Given the description of an element on the screen output the (x, y) to click on. 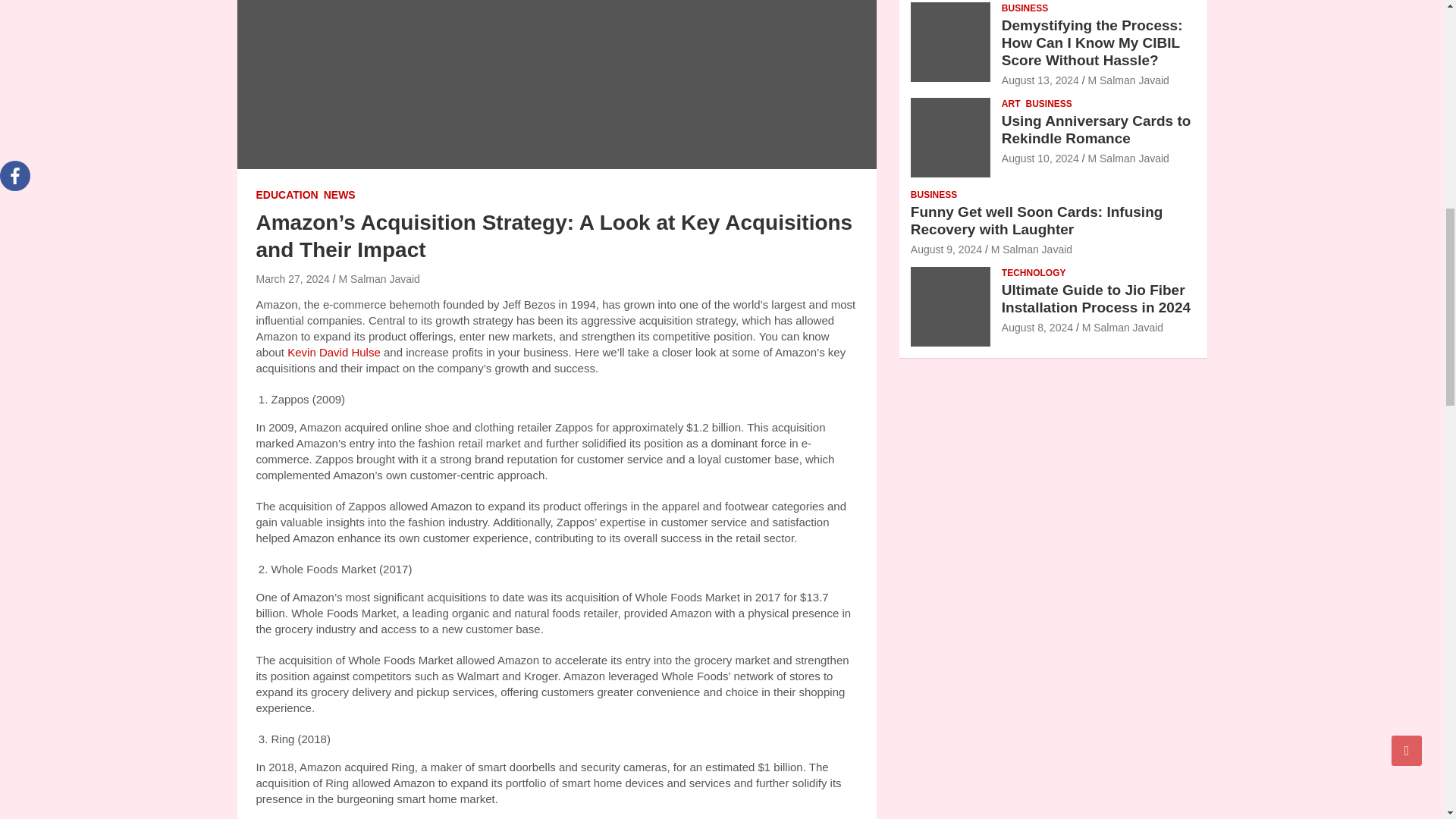
March 27, 2024 (293, 278)
Ultimate Guide to Jio Fiber Installation Process in 2024 (1037, 327)
NEWS (339, 195)
Funny Get well Soon Cards: Infusing Recovery with Laughter (946, 249)
Using Anniversary Cards to Rekindle Romance (1039, 158)
EDUCATION (287, 195)
